Given the description of an element on the screen output the (x, y) to click on. 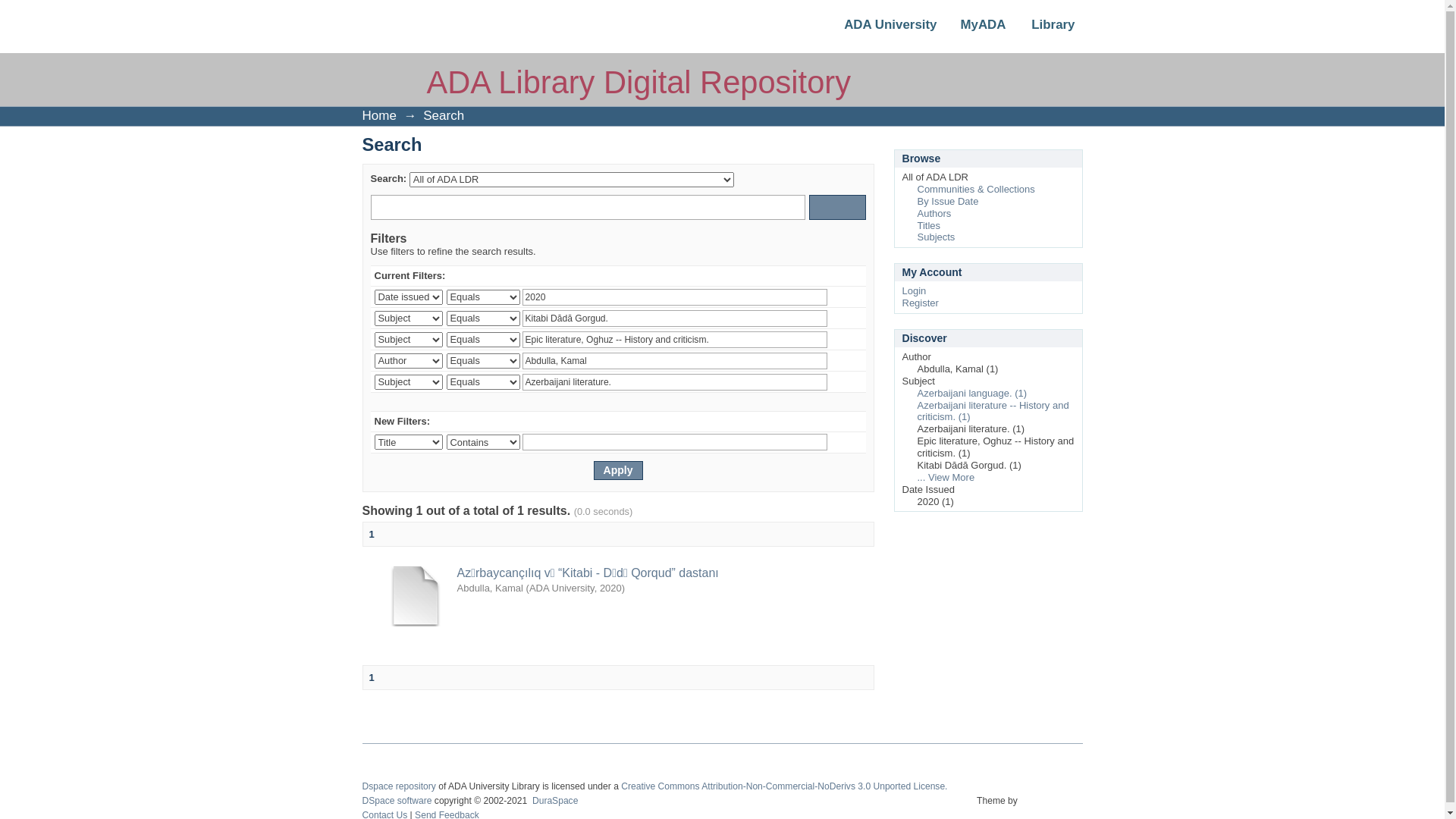
Register Element type: text (920, 302)
ADA University Element type: text (888, 28)
Add Filter Element type: text (837, 317)
Authors Element type: text (934, 213)
Remove Element type: text (855, 442)
DSpace software Element type: text (397, 800)
@mire NV Element type: hover (1052, 808)
Library Element type: text (1041, 28)
DuraSpace Element type: text (554, 800)
Communities & Collections Element type: text (976, 188)
Add Filter Element type: text (837, 296)
... View More Element type: text (946, 477)
Subjects Element type: text (936, 236)
Add Filter Element type: text (837, 442)
Dspace repository Element type: text (399, 786)
Remove Element type: text (855, 381)
Remove Element type: text (855, 296)
Add Filter Element type: text (837, 338)
Remove Element type: text (855, 317)
Remove Element type: text (855, 338)
Titles Element type: text (929, 225)
1 Element type: text (370, 677)
  Element type: text (1052, 808)
Add Filter Element type: text (837, 381)
Azerbaijani language. (1) Element type: text (972, 392)
MyADA Element type: text (971, 28)
1 Element type: text (370, 533)
Azerbaijani literature -- History and criticism. (1) Element type: text (993, 411)
Apply Element type: text (617, 470)
Go Element type: text (836, 206)
Add Filter Element type: text (837, 360)
Remove Element type: text (855, 360)
Home Element type: text (379, 115)
Login Element type: text (914, 290)
By Issue Date Element type: text (948, 201)
